Given the description of an element on the screen output the (x, y) to click on. 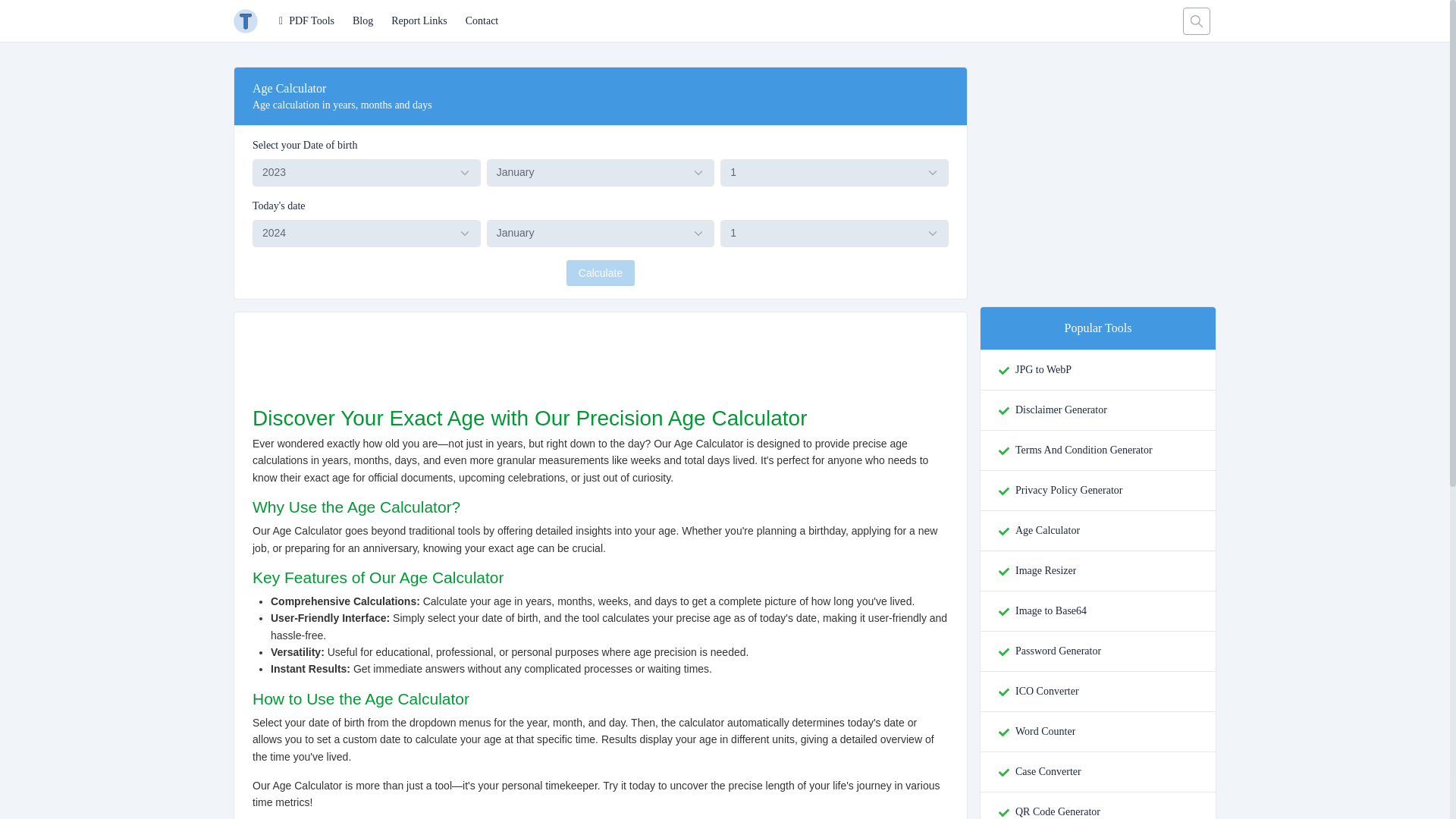
QR Code Generator (1057, 811)
Case Converter (1047, 771)
JPG to WebP (1042, 369)
JPG to WebP (1042, 369)
Password Generator (1057, 651)
Calculate (600, 272)
ICO Converter (1046, 691)
Privacy Policy Generator (1068, 490)
Contact (482, 21)
Disclaimer Generator (1060, 409)
